Given the description of an element on the screen output the (x, y) to click on. 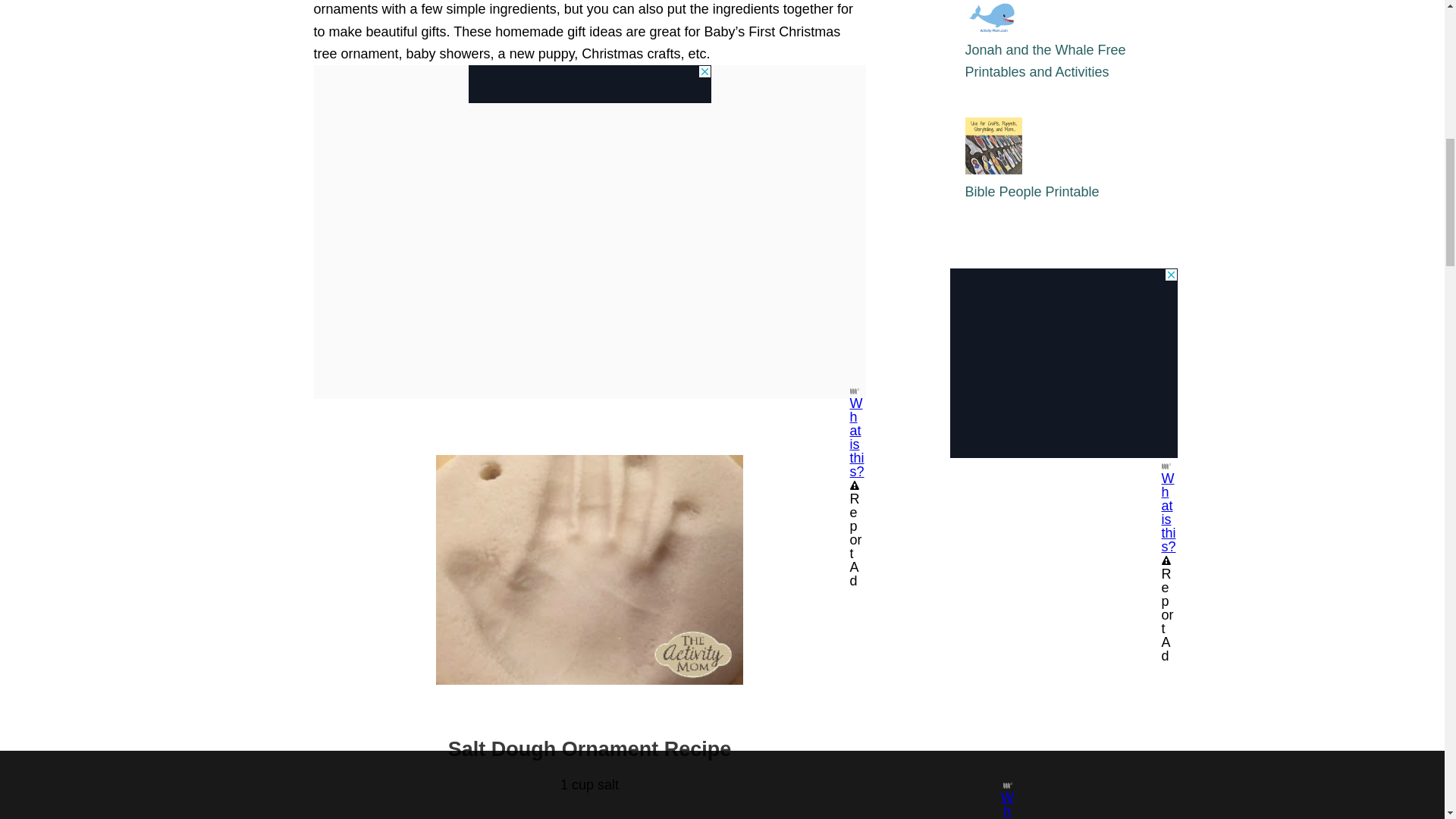
Jonah and the Whale Free Printables and Activities (1044, 60)
3rd party ad content (1062, 362)
3rd party ad content (589, 84)
Bible People Printable (1031, 191)
